Given the description of an element on the screen output the (x, y) to click on. 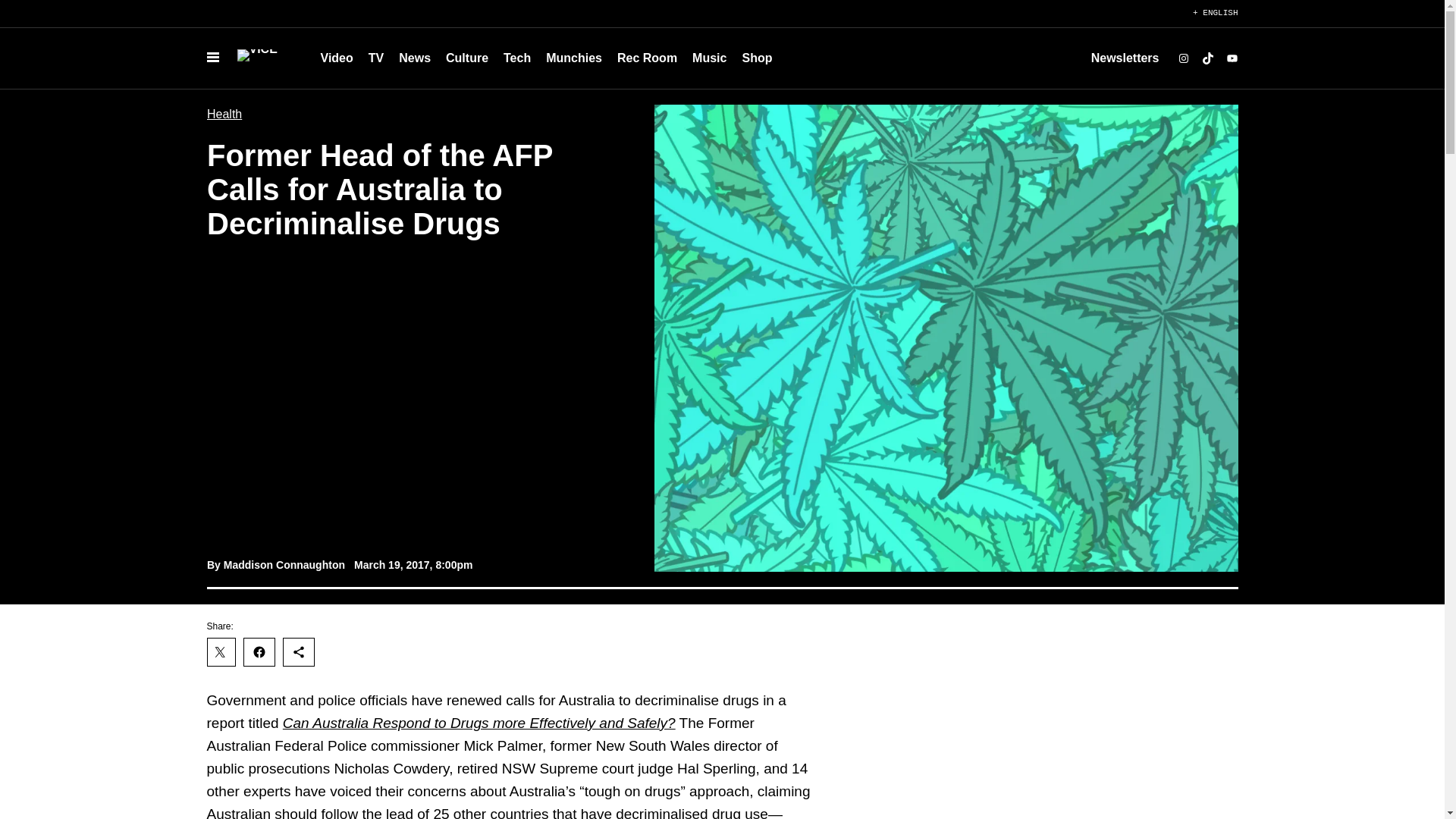
Posts by Maddison Connaughton (282, 564)
Rec Room (647, 58)
Munchies (574, 58)
Instagram (1182, 58)
Tech (517, 58)
TikTok (1206, 58)
News (414, 58)
Music (708, 58)
Newsletters (1124, 57)
TV (376, 58)
